Given the description of an element on the screen output the (x, y) to click on. 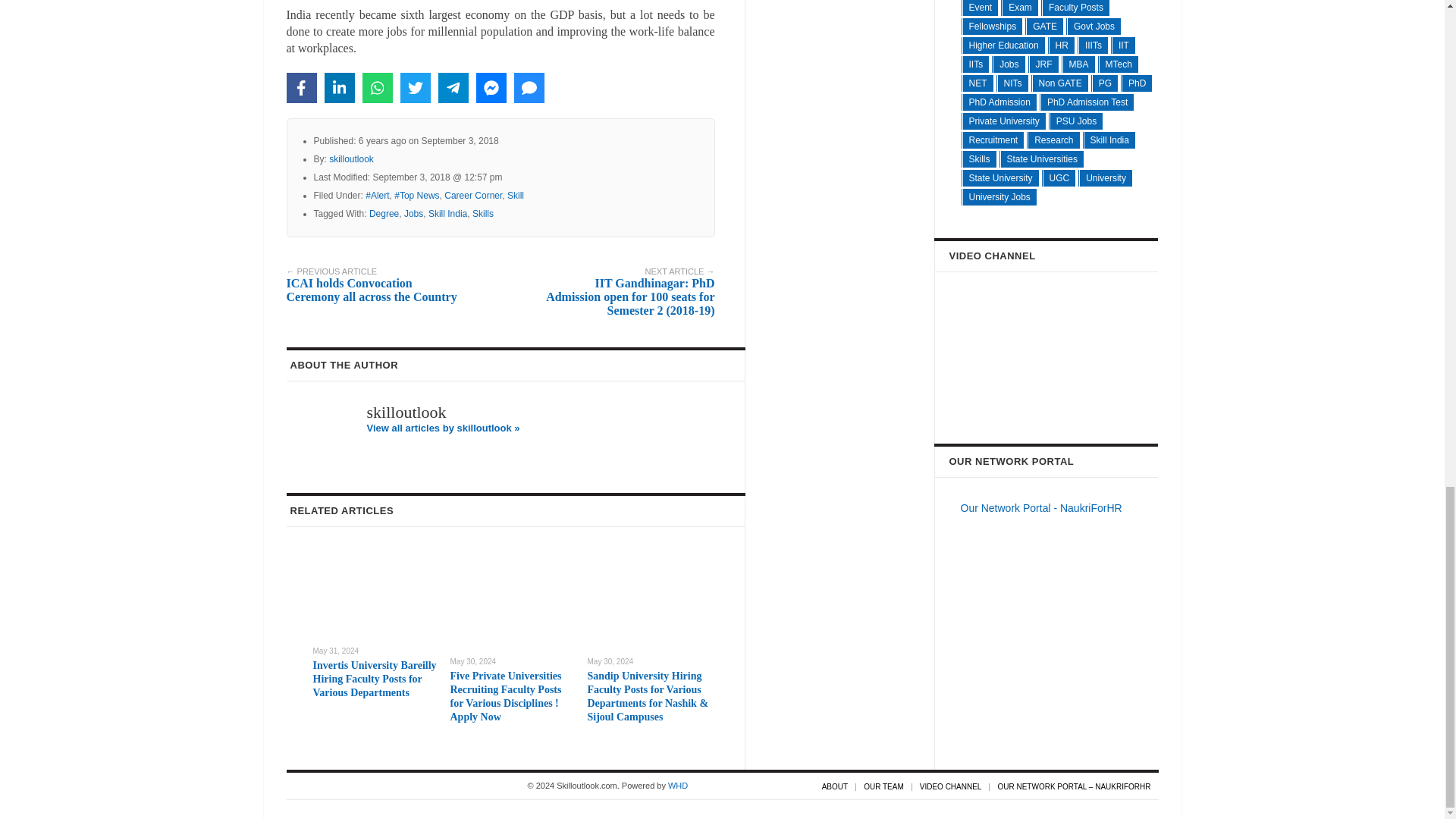
Degree (383, 213)
skilloutlook (351, 158)
Jobs (413, 213)
Site (677, 785)
skilloutlook.com Video Channel (1065, 351)
Posts by skilloutlook (351, 158)
Career Corner (473, 195)
Posts by skilloutlook (406, 411)
Skill (515, 195)
